Given the description of an element on the screen output the (x, y) to click on. 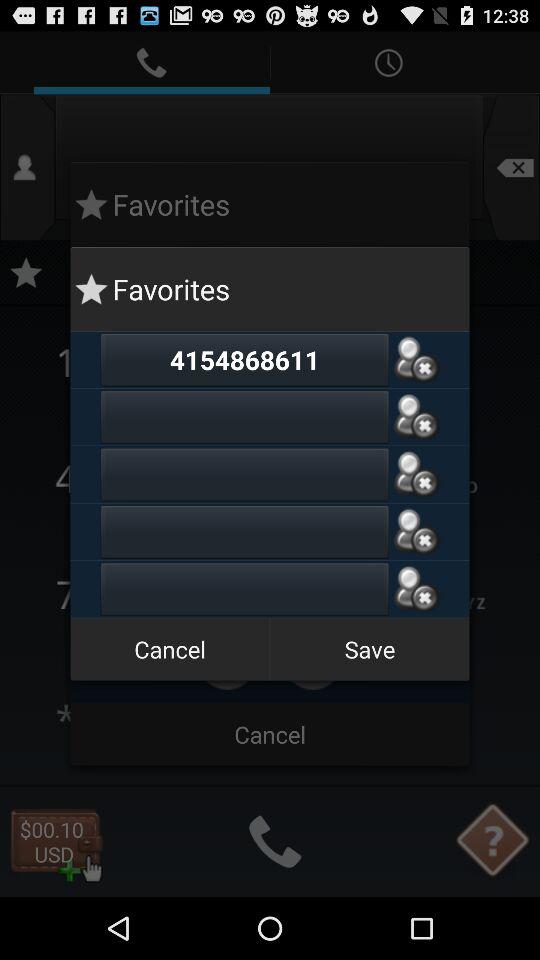
add phone number to favourites list (416, 416)
